Given the description of an element on the screen output the (x, y) to click on. 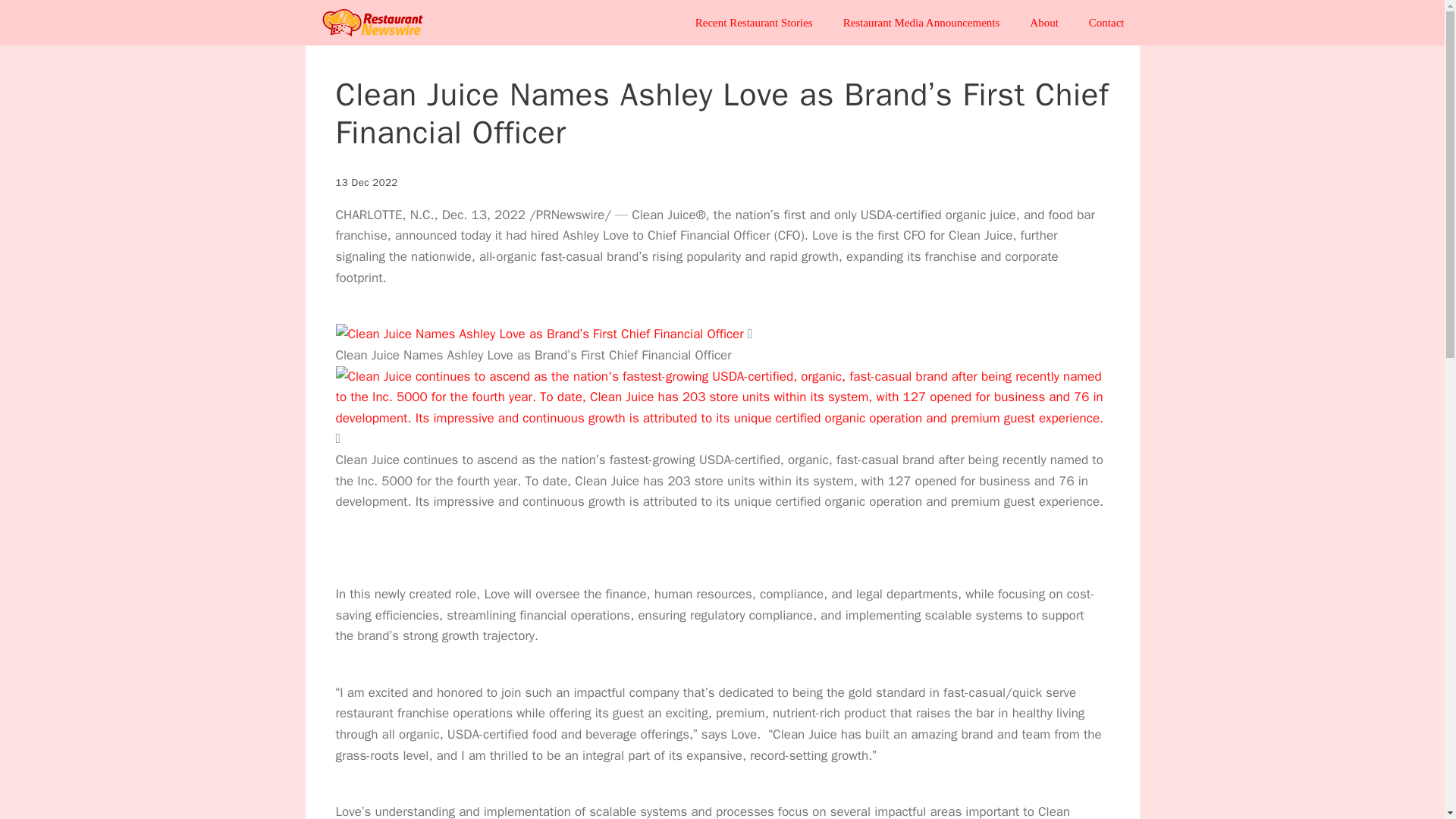
Restaurant Media Announcements (921, 22)
Contact (1107, 22)
About (1044, 22)
Restaurant Newswire (375, 22)
Recent Restaurant Stories (753, 22)
Restaurant Newswire (371, 22)
